Given the description of an element on the screen output the (x, y) to click on. 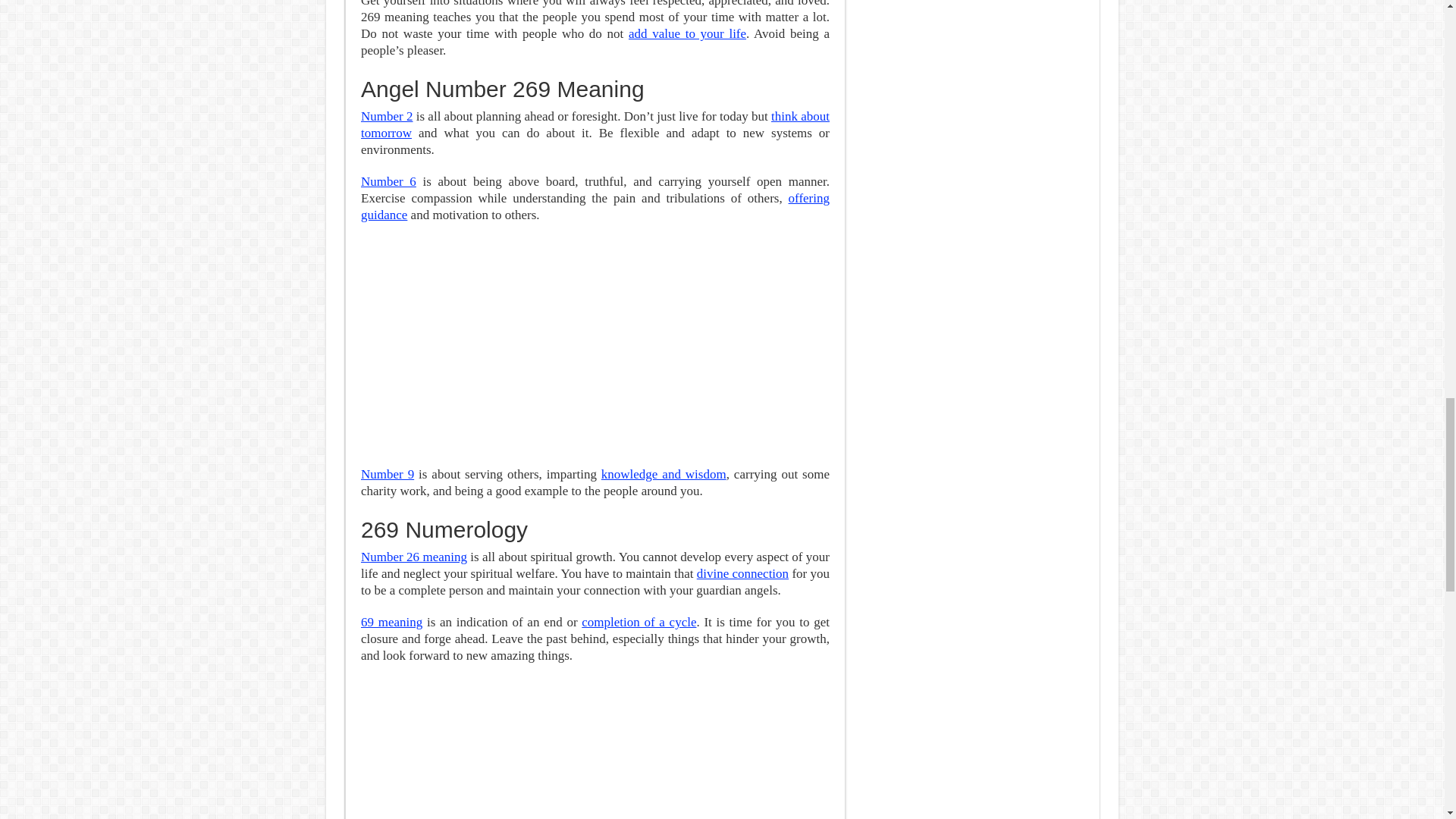
Number 6 (388, 181)
add value to your life (686, 33)
completion of a cycle (637, 622)
Advertisement (595, 749)
Advertisement (595, 345)
divine connection (743, 573)
offering guidance (595, 205)
think about tomorrow (595, 124)
Number 2 (386, 115)
Number 26 meaning (414, 556)
knowledge and wisdom (663, 473)
Number 9 (387, 473)
69 meaning (391, 622)
